Given the description of an element on the screen output the (x, y) to click on. 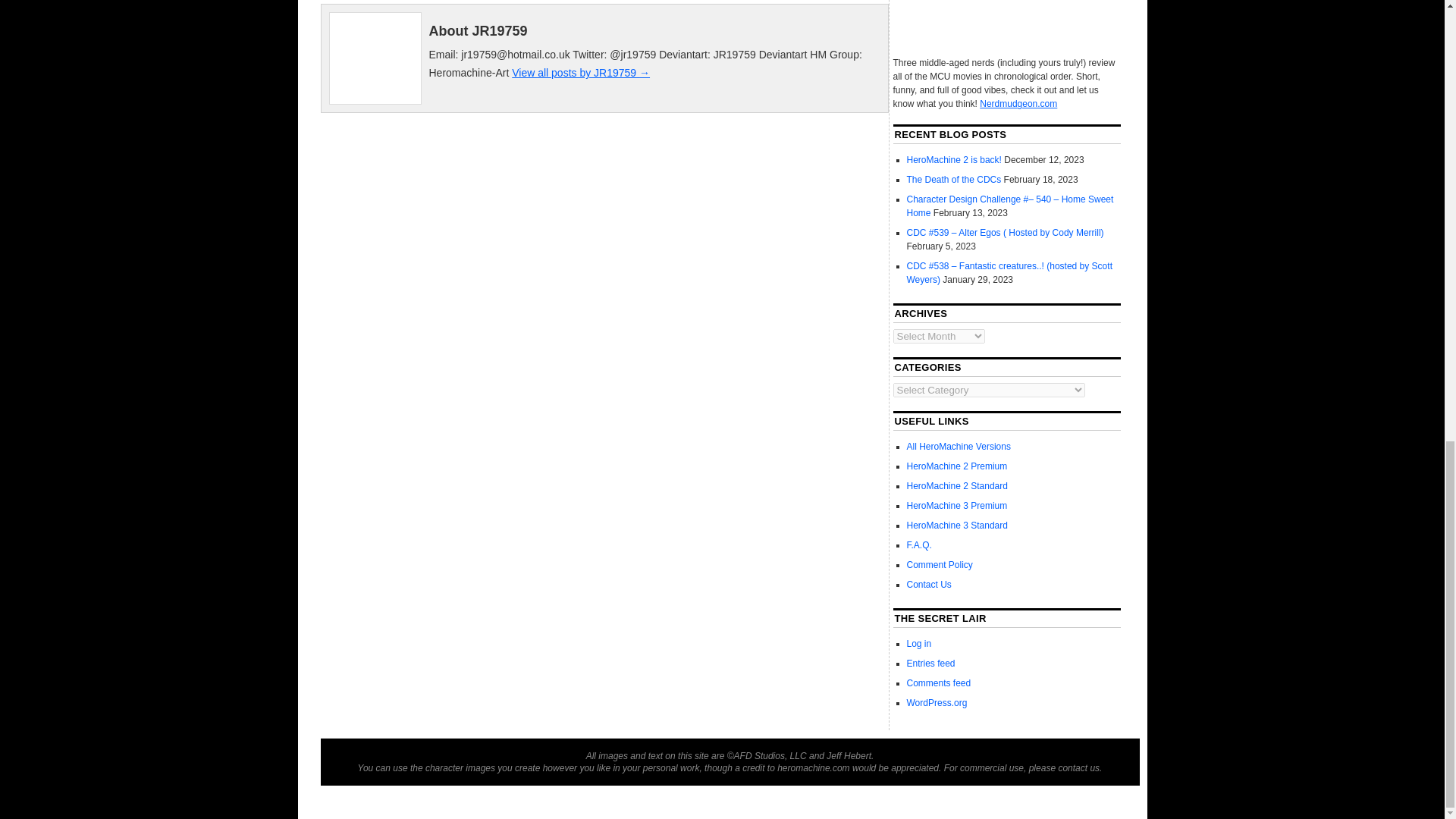
HeroMachine 3 Premium (957, 505)
HeroMachine 2 Premium (957, 466)
HeroMachine 2 Standard (957, 485)
Nerdmudgeon.com (1018, 103)
HeroMachine 3 Standard (957, 525)
All HeroMachine Versions (958, 446)
HeroMachine 2 is back! (954, 159)
F.A.Q. (919, 544)
The Death of the CDCs (954, 179)
Comment Policy (939, 564)
